Given the description of an element on the screen output the (x, y) to click on. 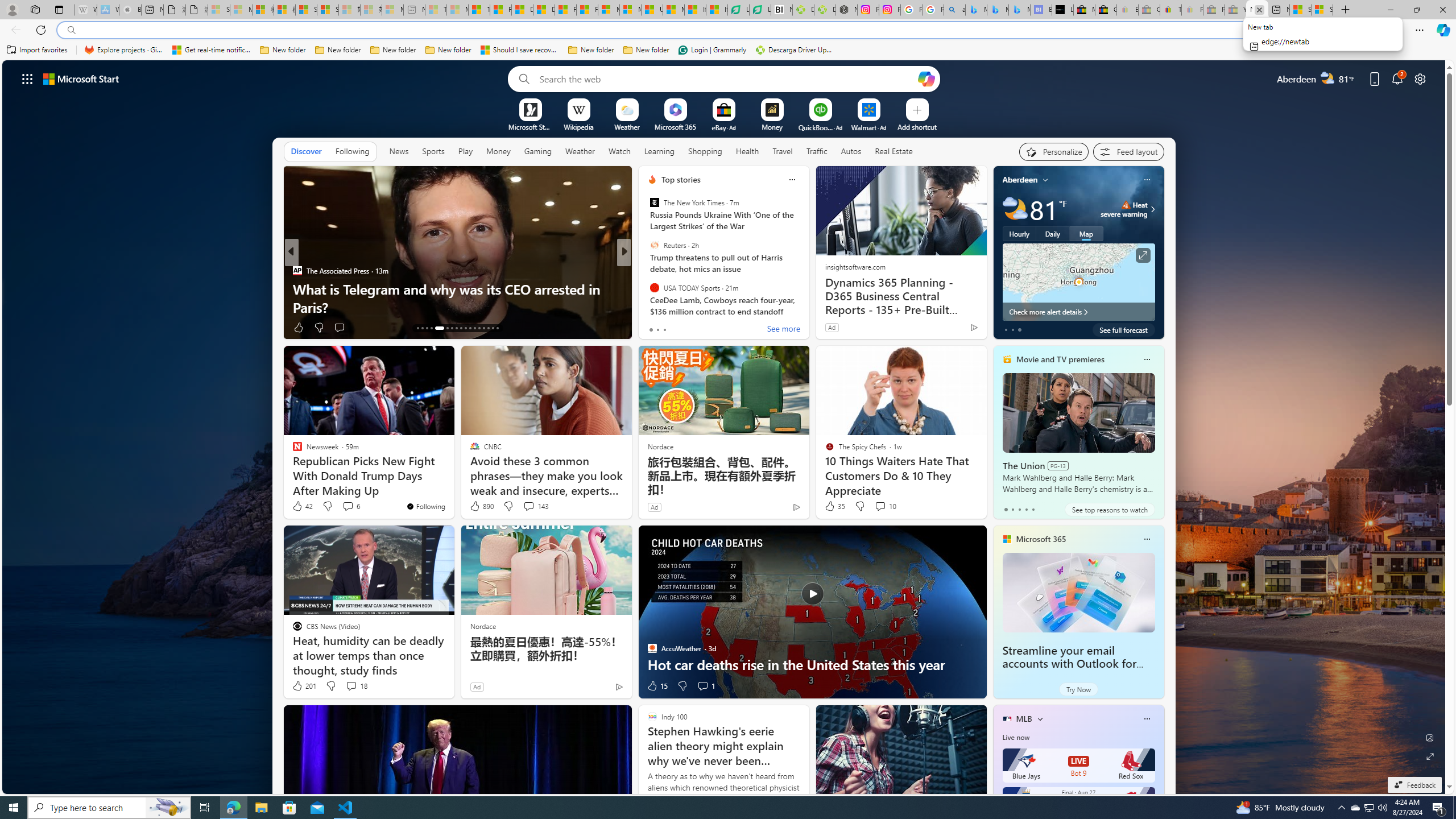
Ad Choice (619, 686)
Learn Singing & Healing at the same time (807, 307)
AutomationID: tab-32 (492, 328)
Nordace - Nordace Edin Collection (846, 9)
3 Like (651, 327)
View comments 460 Comment (709, 327)
tab-0 (1005, 509)
Notifications (1397, 78)
Press Room - eBay Inc. - Sleeping (1214, 9)
View comments 3 Comment (703, 327)
Open Copilot (926, 78)
News (398, 151)
Shopping (705, 151)
